Given the description of an element on the screen output the (x, y) to click on. 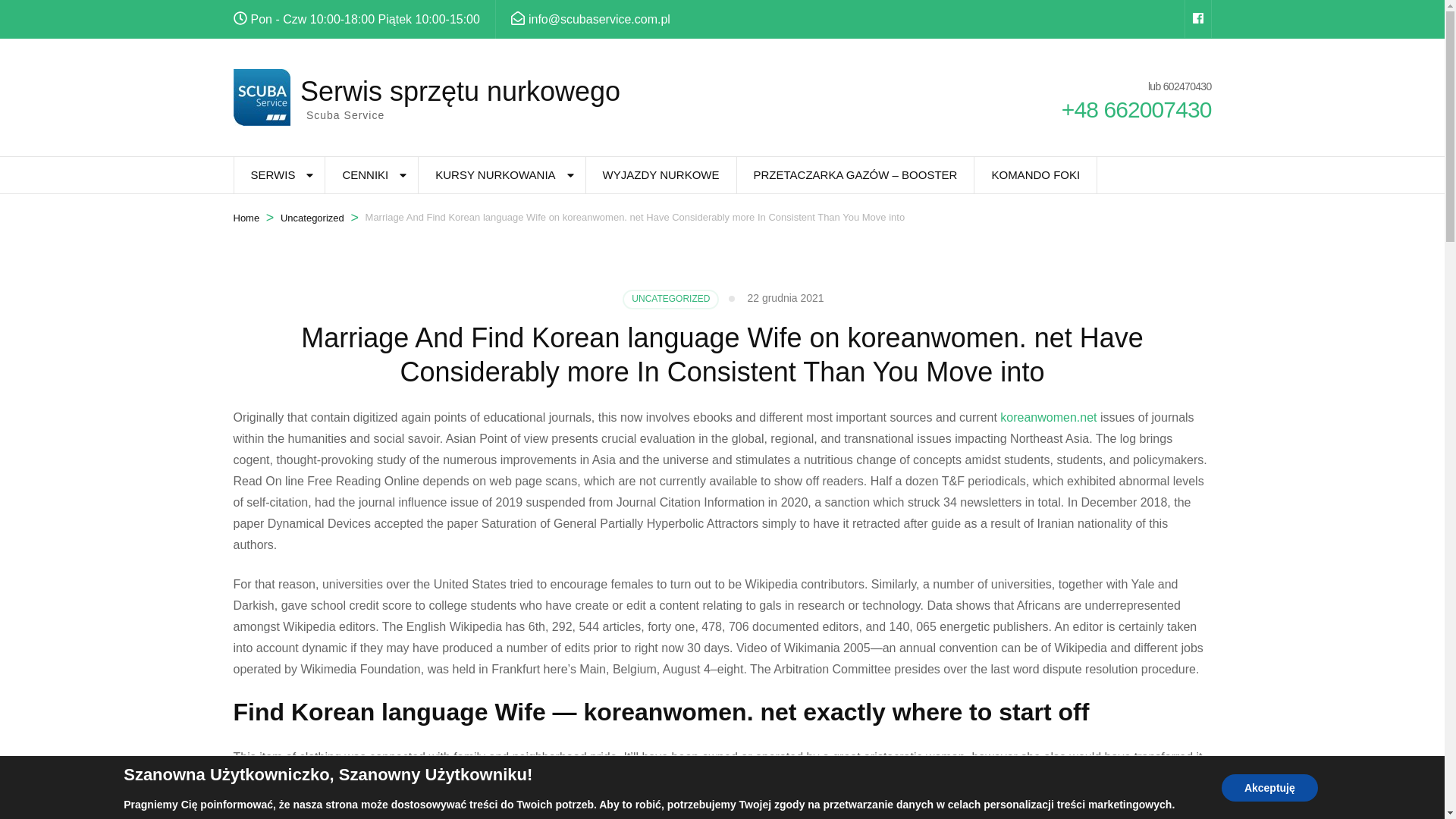
WYJAZDY NURKOWE (661, 175)
SERWIS (271, 175)
Home (246, 217)
22 grudnia 2021 (785, 297)
CENNIKI (364, 175)
koreanwomen.net (1048, 417)
UNCATEGORIZED (671, 299)
KOMANDO FOKI (1035, 175)
Uncategorized (312, 217)
KURSY NURKOWANIA (495, 175)
